Given the description of an element on the screen output the (x, y) to click on. 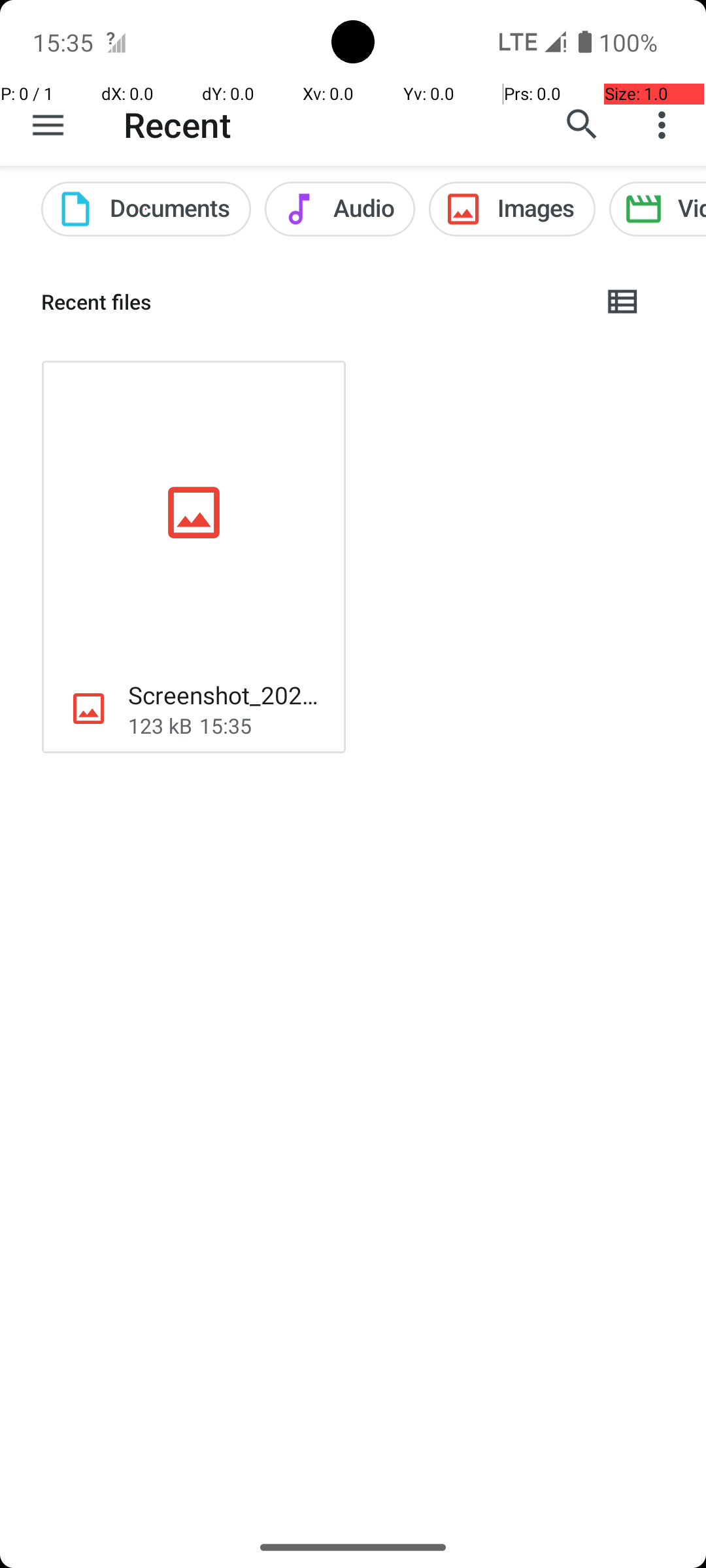
Screenshot_20231015-153555.png Element type: android.widget.TextView (226, 694)
123 kB Element type: android.widget.TextView (160, 725)
